Given the description of an element on the screen output the (x, y) to click on. 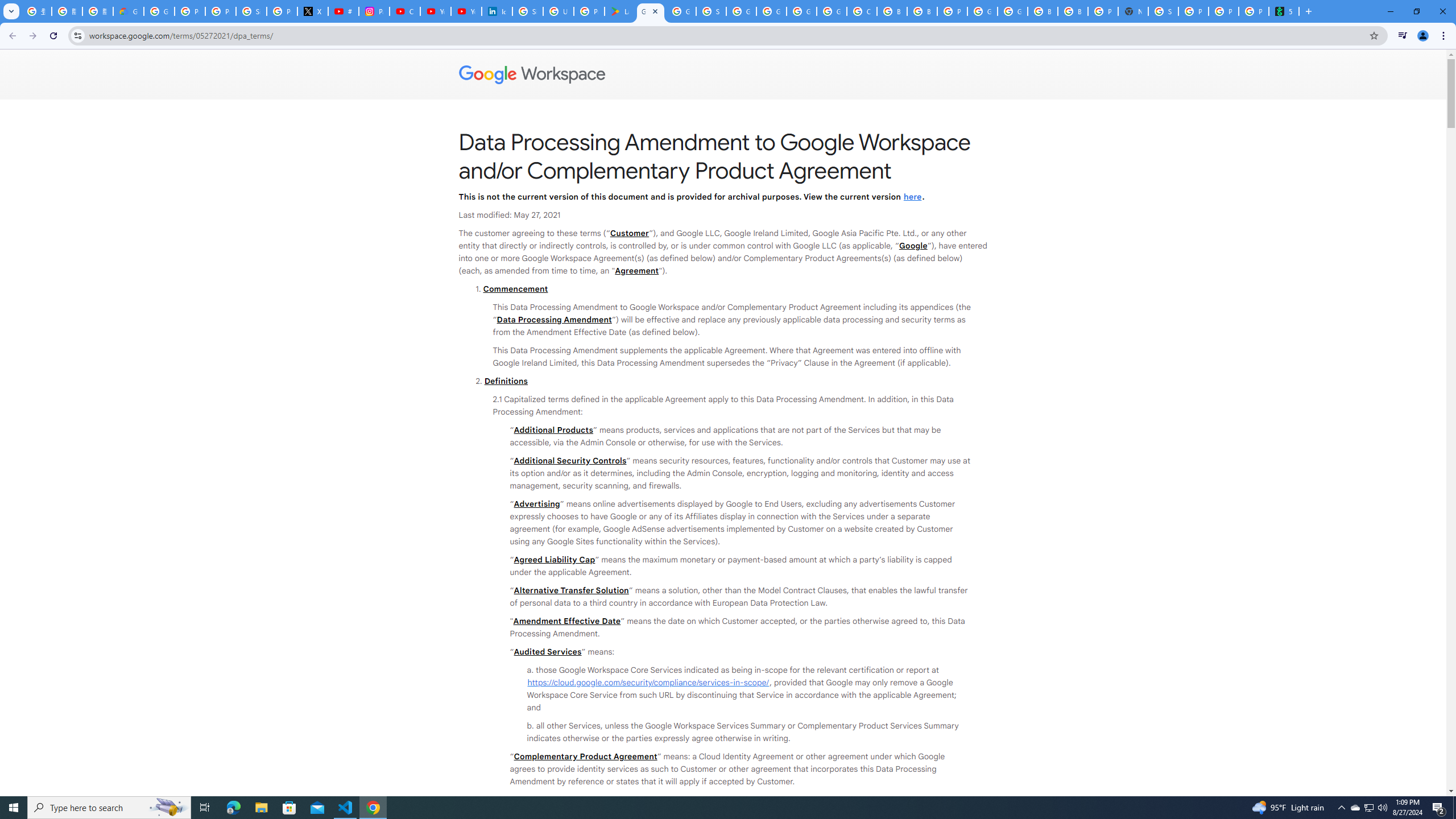
Sign in - Google Accounts (710, 11)
Sign in - Google Accounts (1162, 11)
Close (654, 11)
Back (10, 35)
Privacy Help Center - Policies Help (220, 11)
Control your music, videos, and more (1402, 35)
Browse Chrome as a guest - Computer - Google Chrome Help (892, 11)
Google Cloud Platform (801, 11)
Browse Chrome as a guest - Computer - Google Chrome Help (1072, 11)
You (1422, 35)
View site information (77, 35)
